Given the description of an element on the screen output the (x, y) to click on. 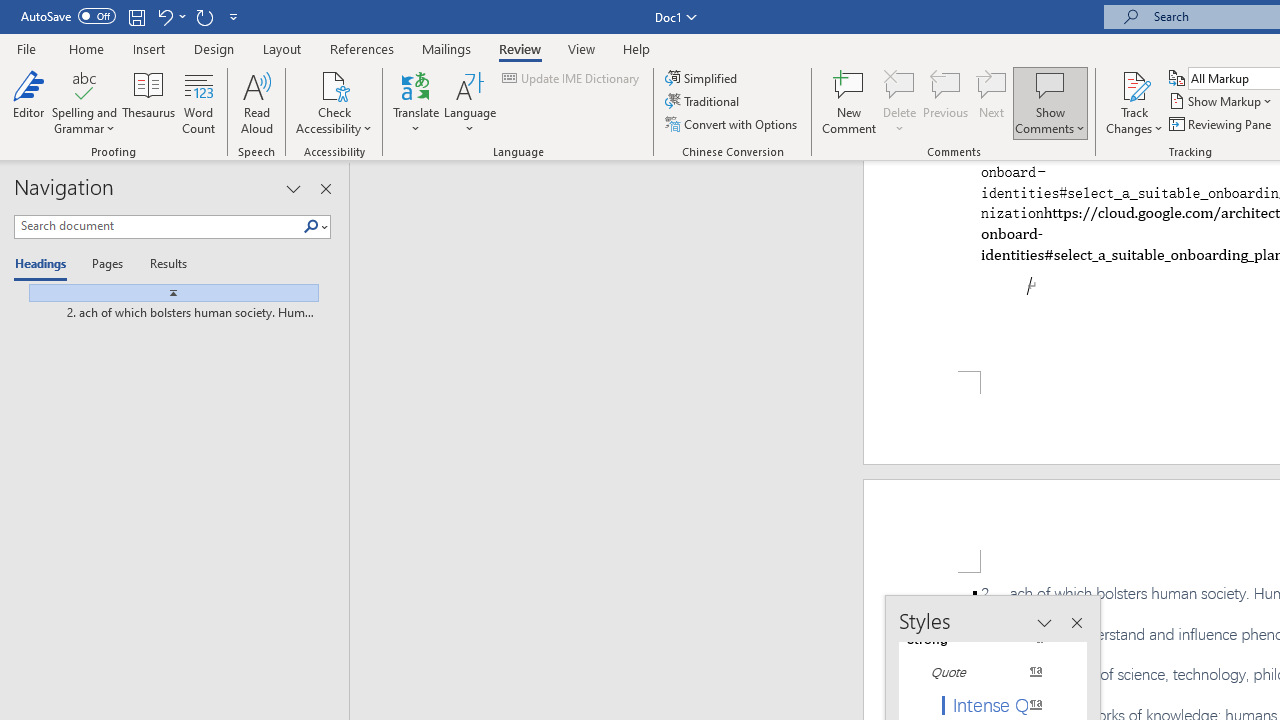
Delete (900, 84)
New Comment (849, 102)
Check Accessibility (334, 84)
Show Comments (1050, 84)
Word Count (198, 102)
Search document (157, 226)
Update IME Dictionary... (572, 78)
Previous (946, 102)
